Given the description of an element on the screen output the (x, y) to click on. 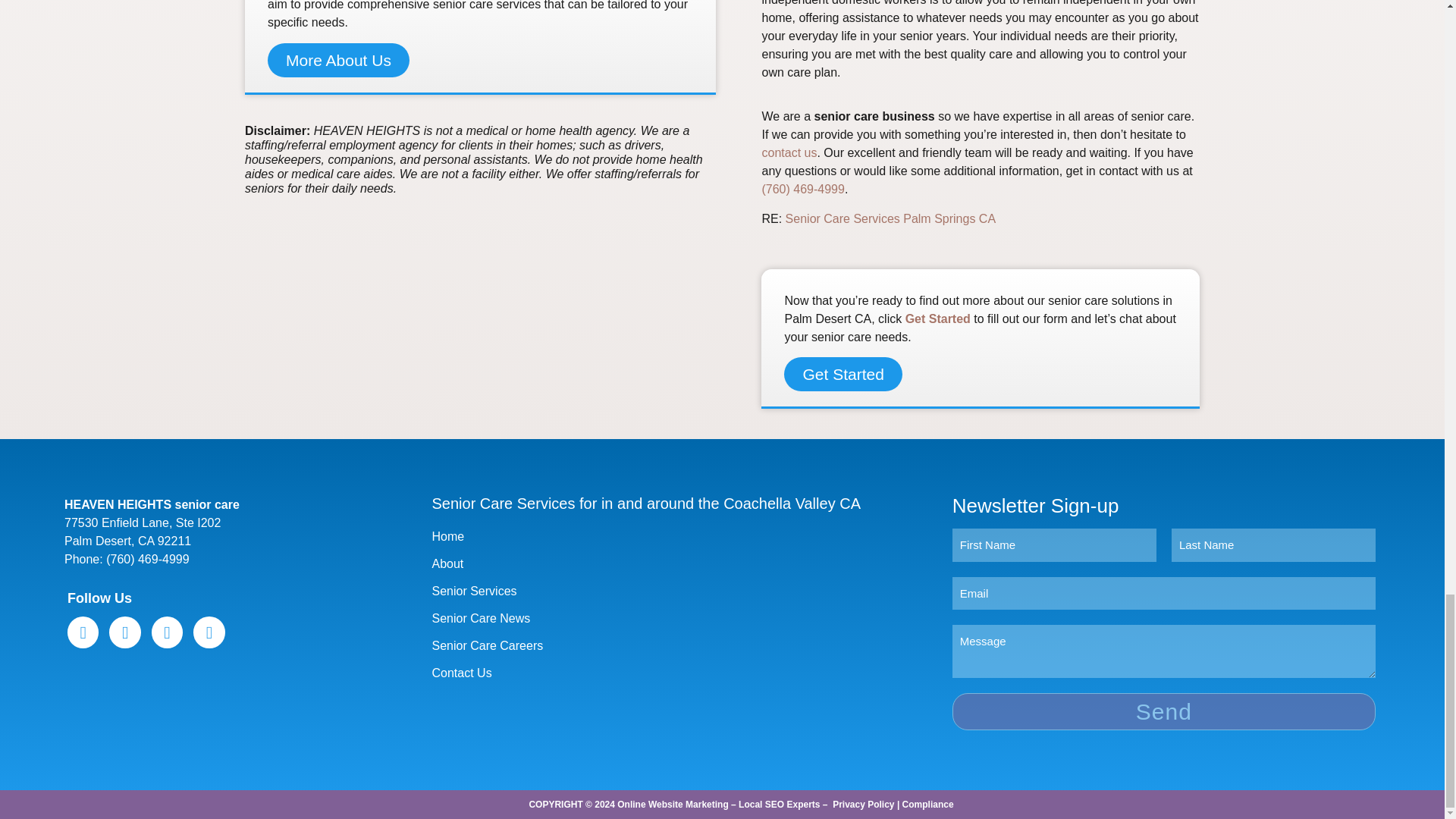
Get Started (938, 318)
Compliance (927, 804)
In Home care Services Carlsbad CA (890, 218)
More About Us (338, 59)
contact us (788, 152)
Get Started (842, 374)
Privacy Policy (862, 804)
Senior Care Services Palm Springs CA (890, 218)
Online Website Marketing - Local SEO Experts (718, 804)
